Given the description of an element on the screen output the (x, y) to click on. 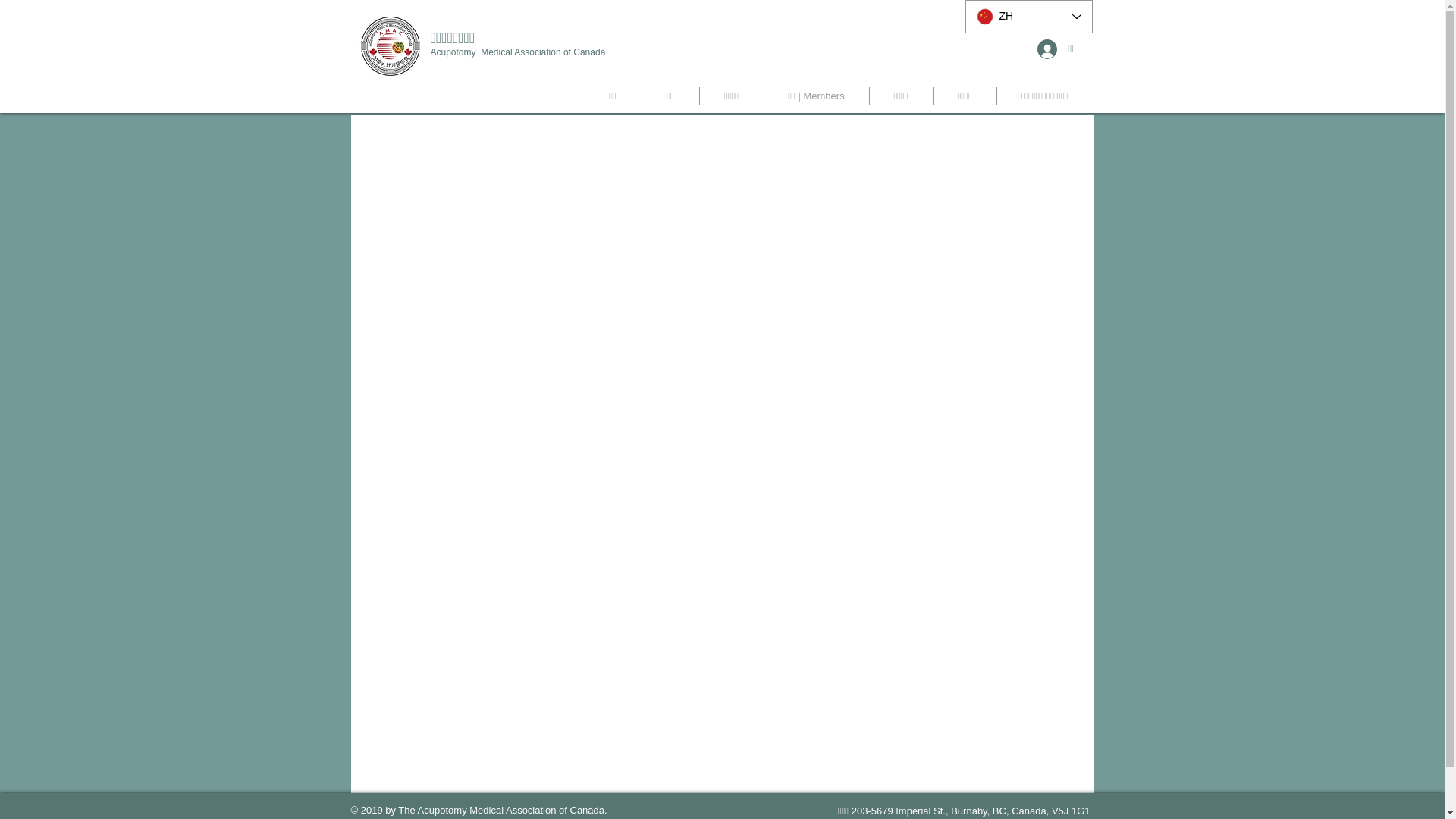
Acupotomy   Element type: text (455, 52)
of Canada Element type: text (584, 52)
Medical Association  Element type: text (521, 52)
